Given the description of an element on the screen output the (x, y) to click on. 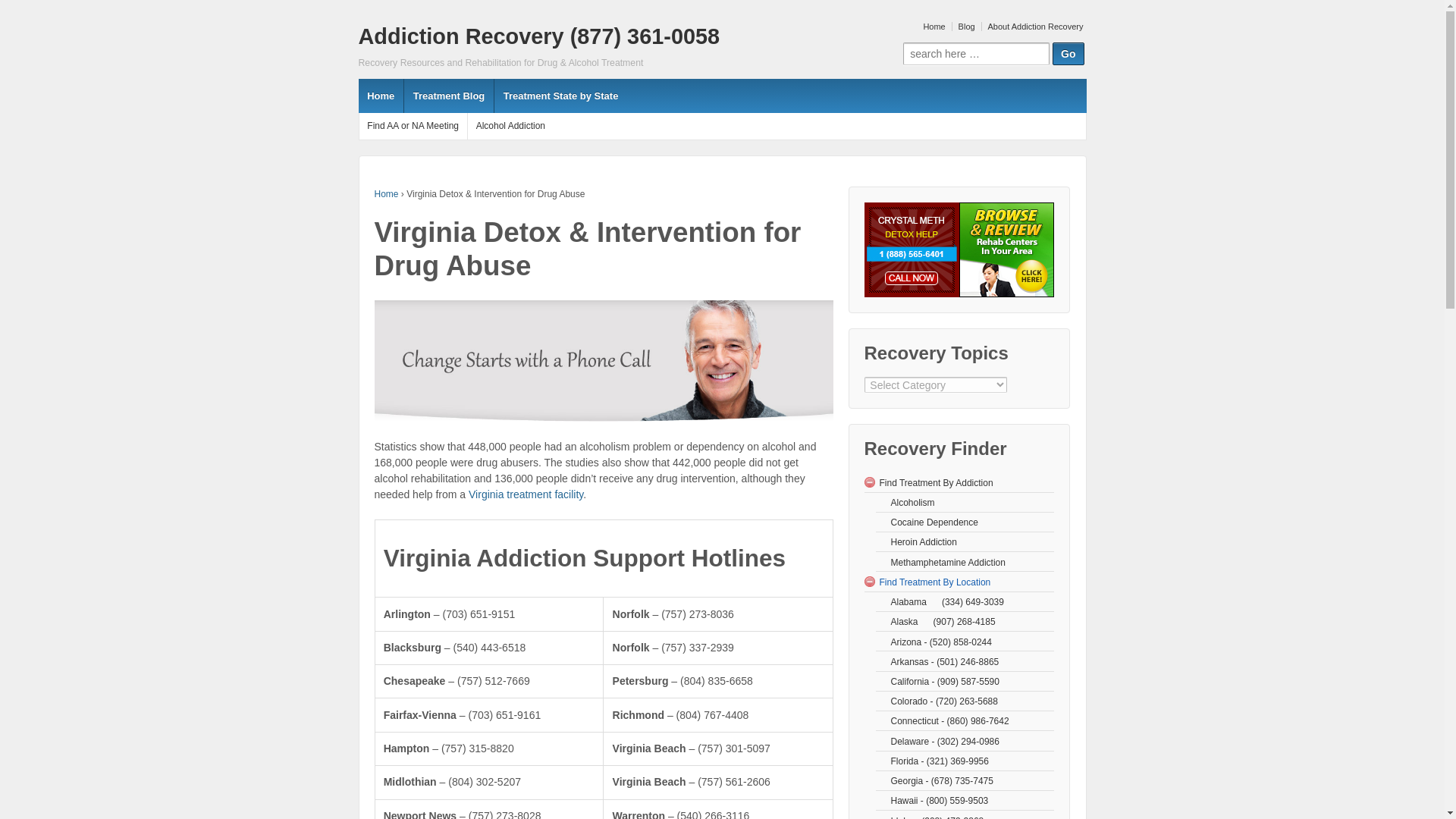
Go (1067, 53)
About Addiction Recovery (1033, 26)
Addiction Rehab and Sobriety Blog (448, 95)
Go (1067, 53)
Home (380, 95)
Home (932, 26)
Treatment Blog (448, 95)
Blog (965, 26)
Treatment State by State (560, 95)
